Given the description of an element on the screen output the (x, y) to click on. 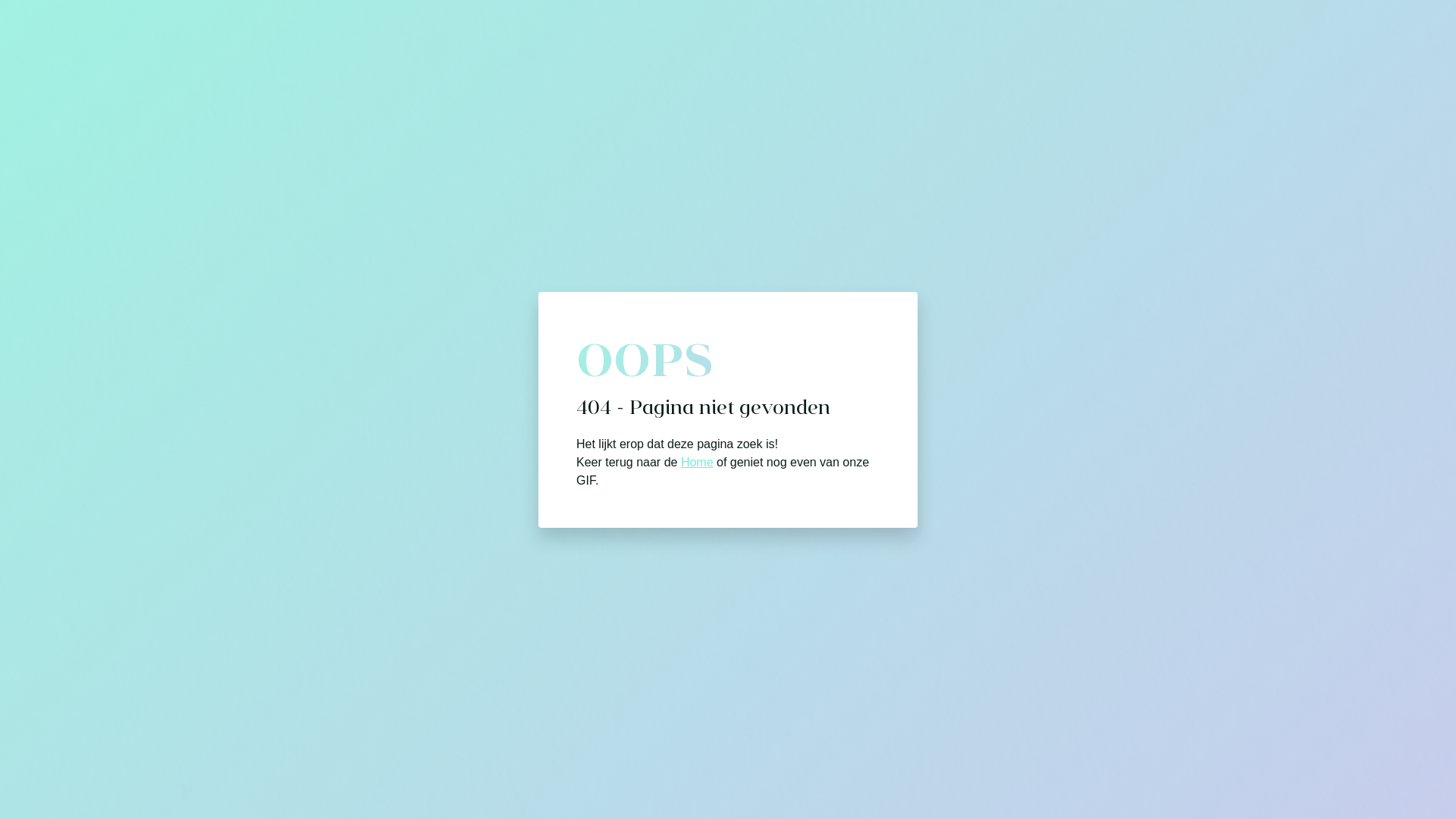
Home Element type: text (696, 461)
